Given the description of an element on the screen output the (x, y) to click on. 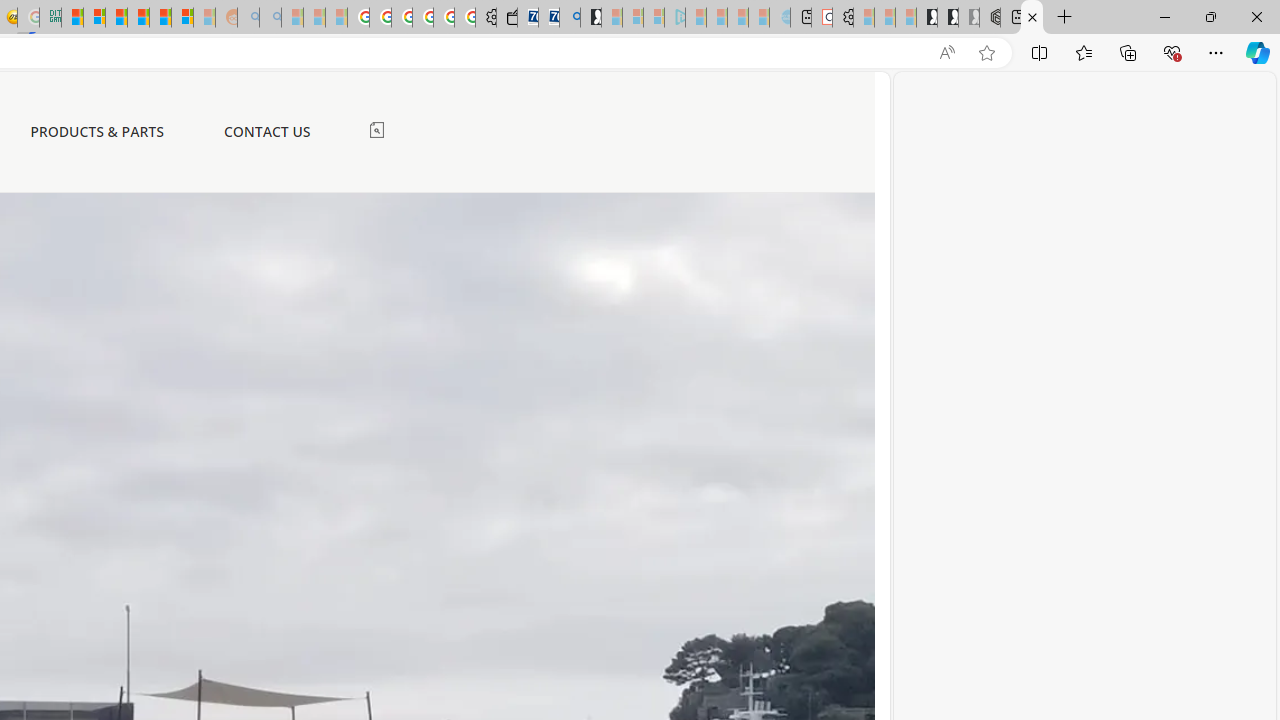
PRODUCTS & PARTS (97, 131)
CONTACT US (266, 132)
CONTACT US (266, 131)
